Given the description of an element on the screen output the (x, y) to click on. 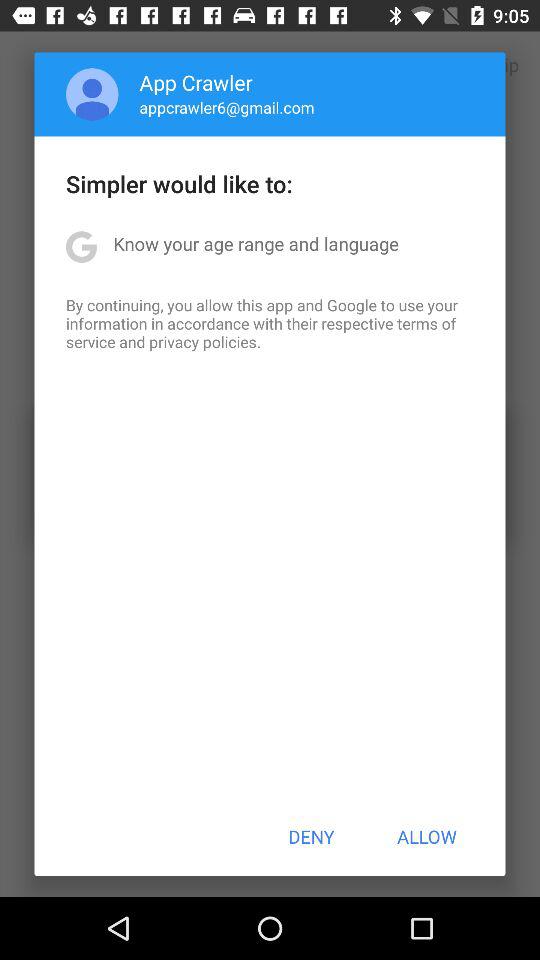
click the know your age app (255, 243)
